Given the description of an element on the screen output the (x, y) to click on. 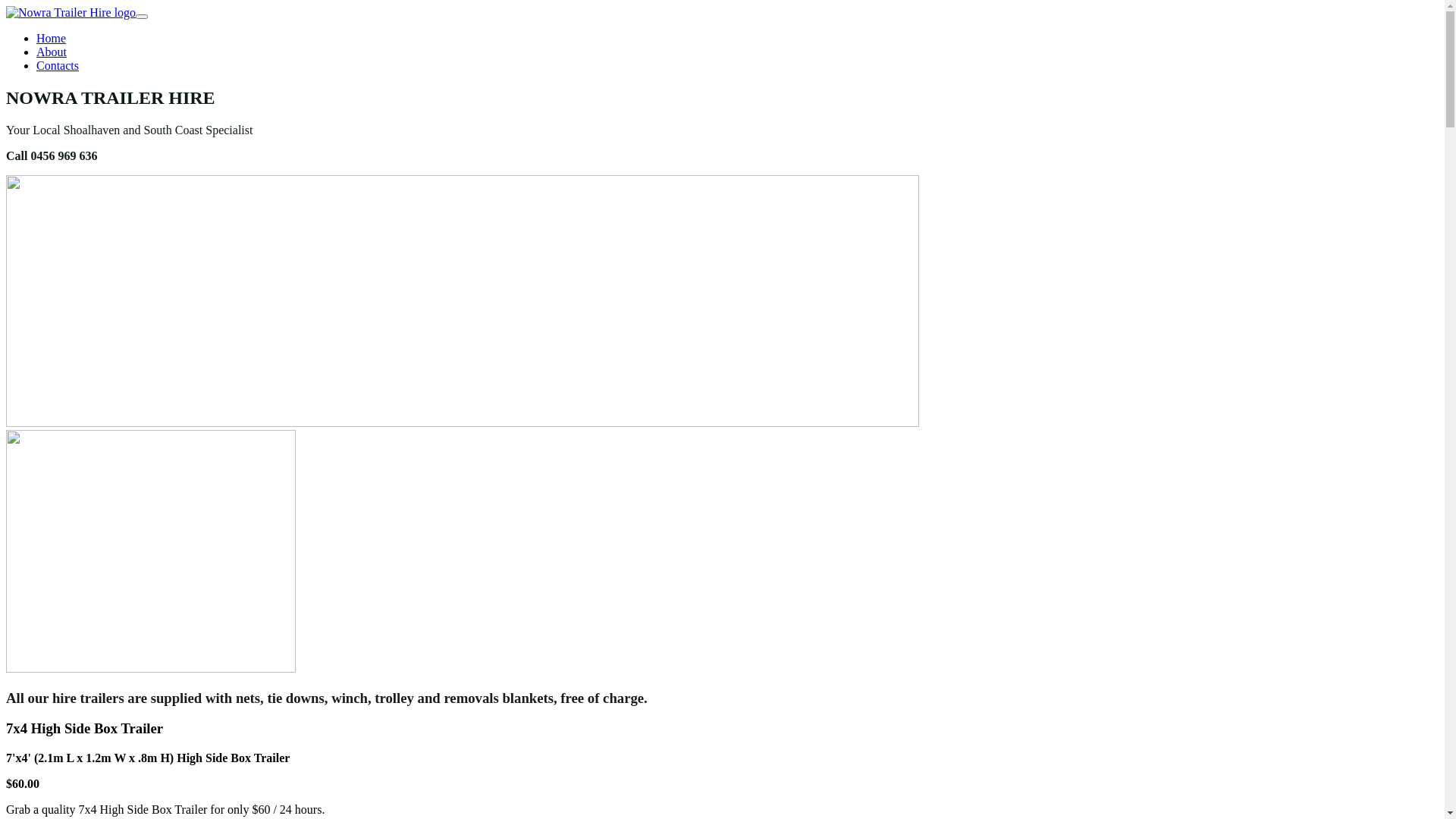
About Element type: text (51, 51)
Menu Element type: hover (141, 16)
Contacts Element type: text (57, 65)
Home Element type: text (50, 37)
